Given the description of an element on the screen output the (x, y) to click on. 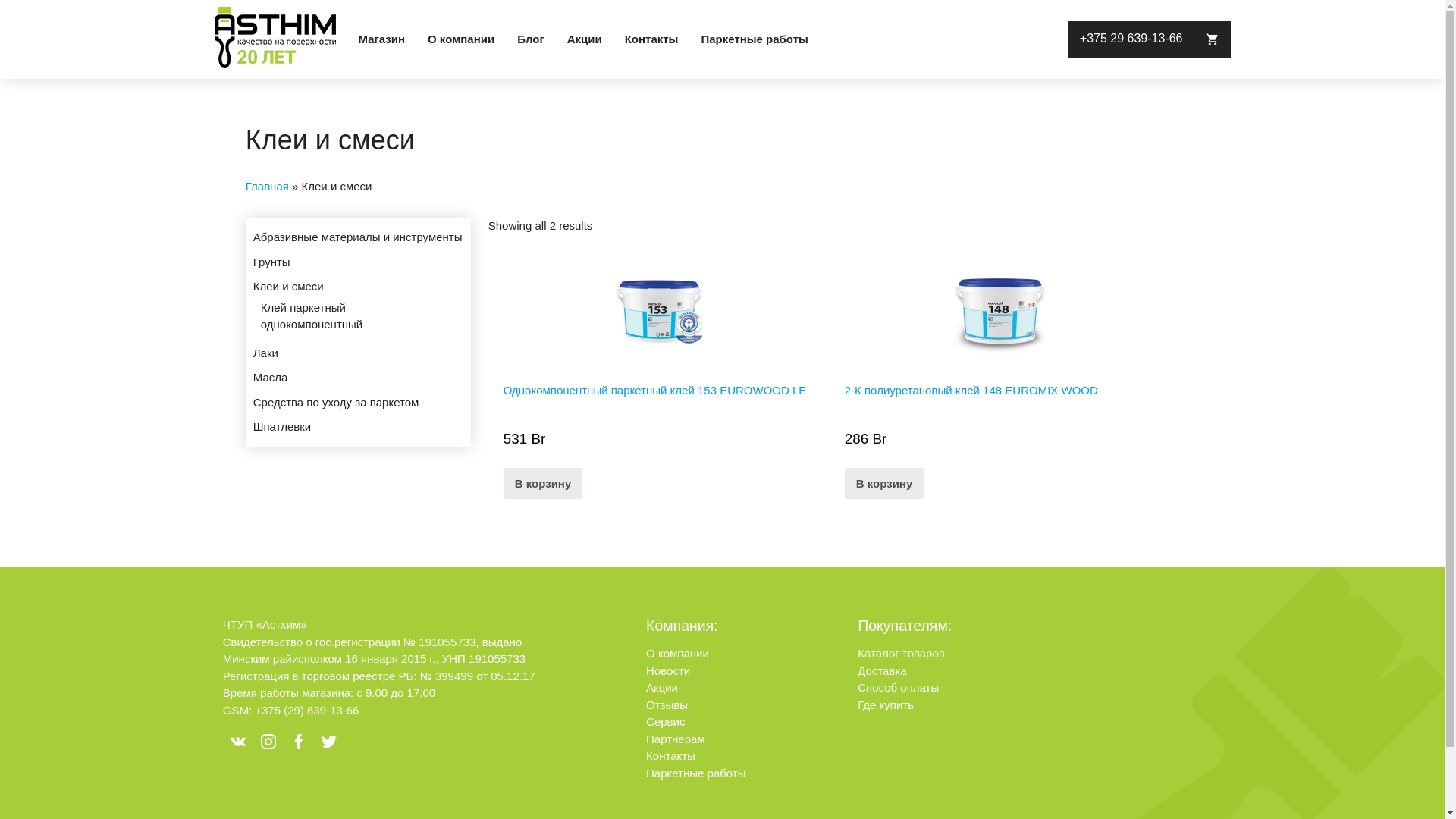
shopping_cart Element type: text (1211, 39)
+375 (29) 639-13-66 Element type: text (306, 709)
+375 29 639-13-66 Element type: text (1131, 39)
